Given the description of an element on the screen output the (x, y) to click on. 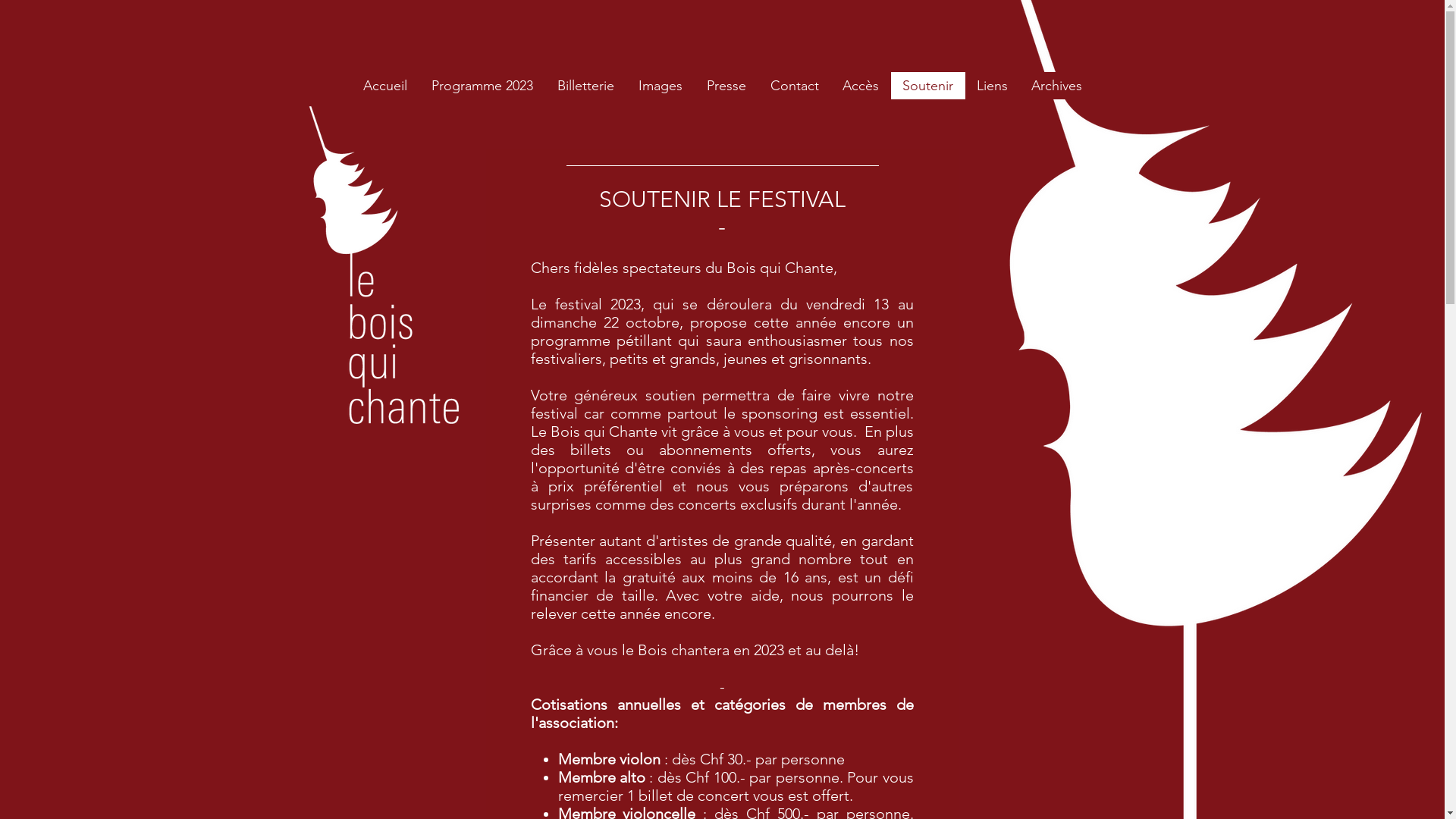
Liens Element type: text (991, 85)
Presse Element type: text (726, 85)
Images Element type: text (660, 85)
Contact Element type: text (794, 85)
Archives Element type: text (1056, 85)
Accueil Element type: text (384, 85)
Soutenir Element type: text (927, 85)
Programme 2023 Element type: text (481, 85)
Billetterie Element type: text (584, 85)
